Given the description of an element on the screen output the (x, y) to click on. 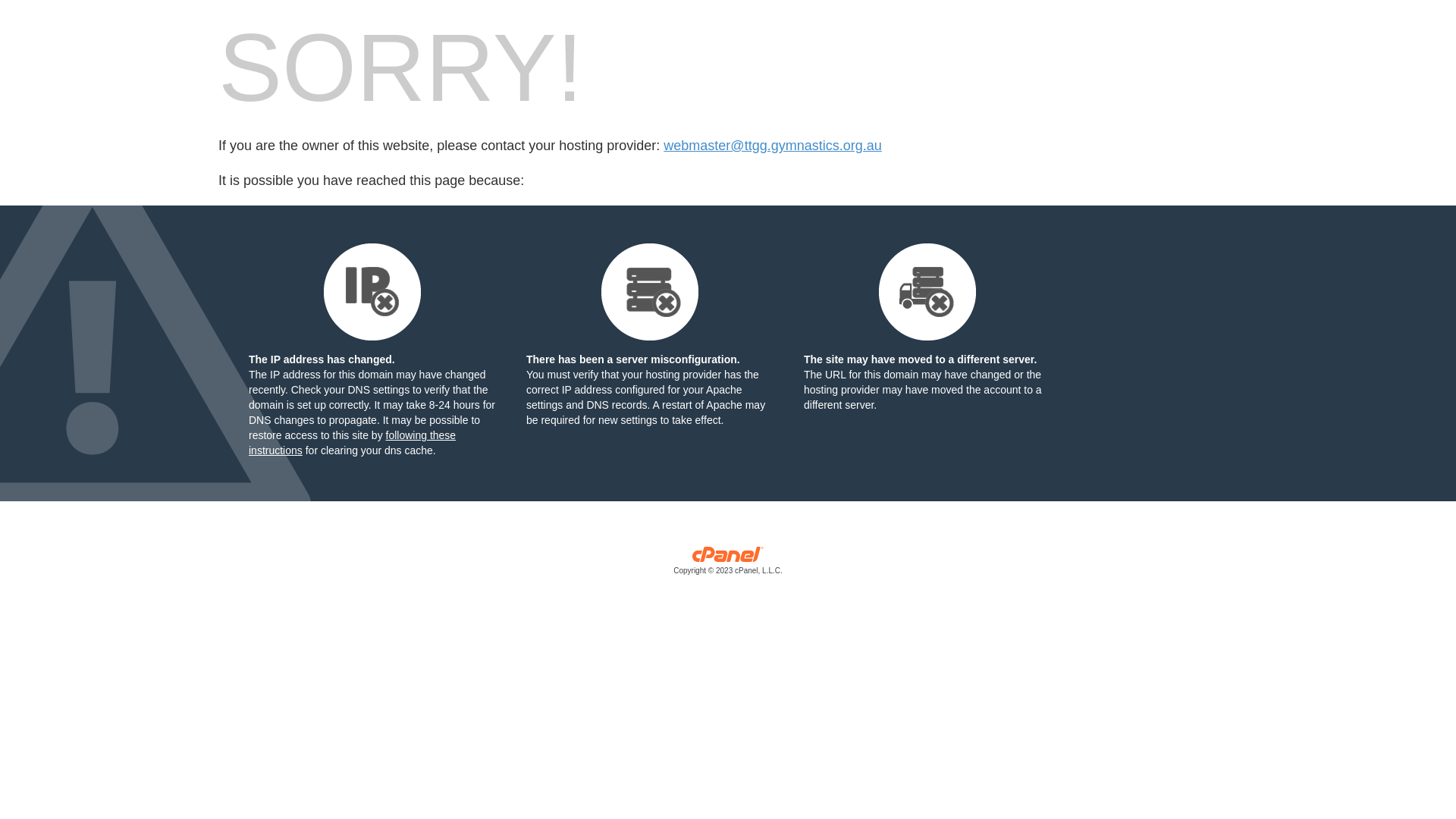
webmaster@ttgg.gymnastics.org.au Element type: text (772, 145)
following these instructions Element type: text (351, 442)
